Given the description of an element on the screen output the (x, y) to click on. 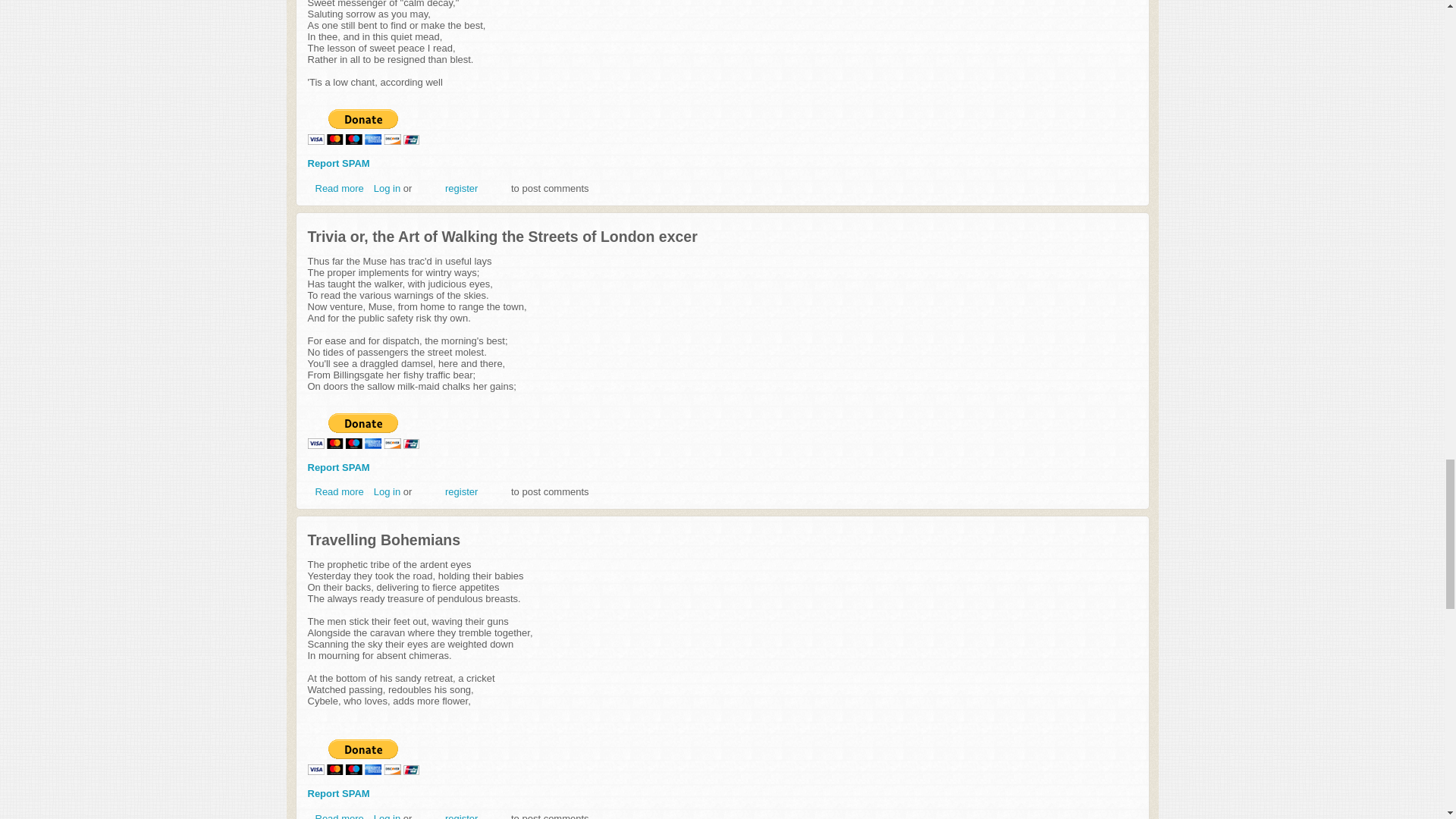
Twenty-First Sunday After Trinity (339, 187)
PayPal - The safer, easier way to pay online! (363, 126)
